Given the description of an element on the screen output the (x, y) to click on. 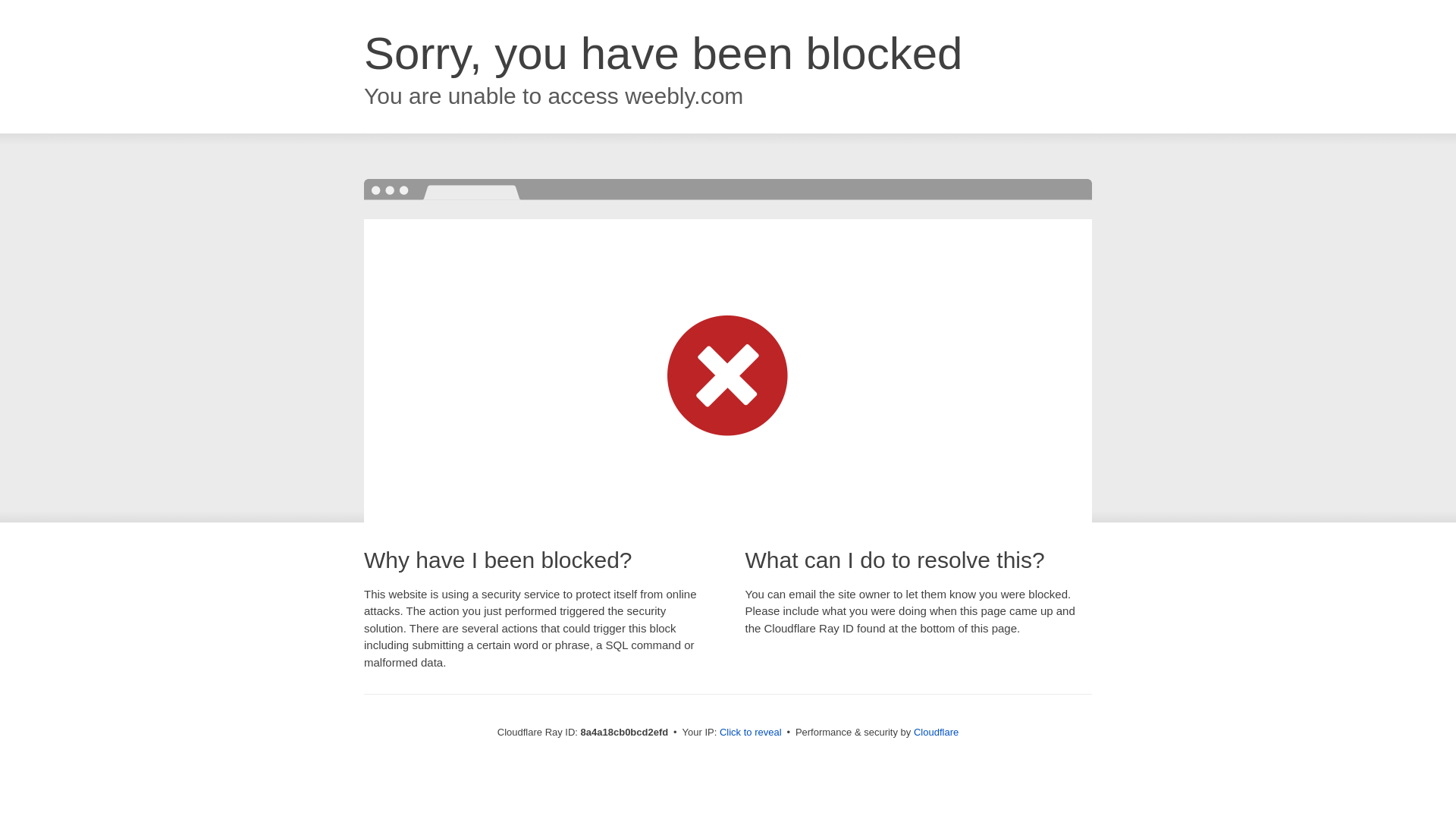
Click to reveal (750, 732)
Cloudflare (936, 731)
